Given the description of an element on the screen output the (x, y) to click on. 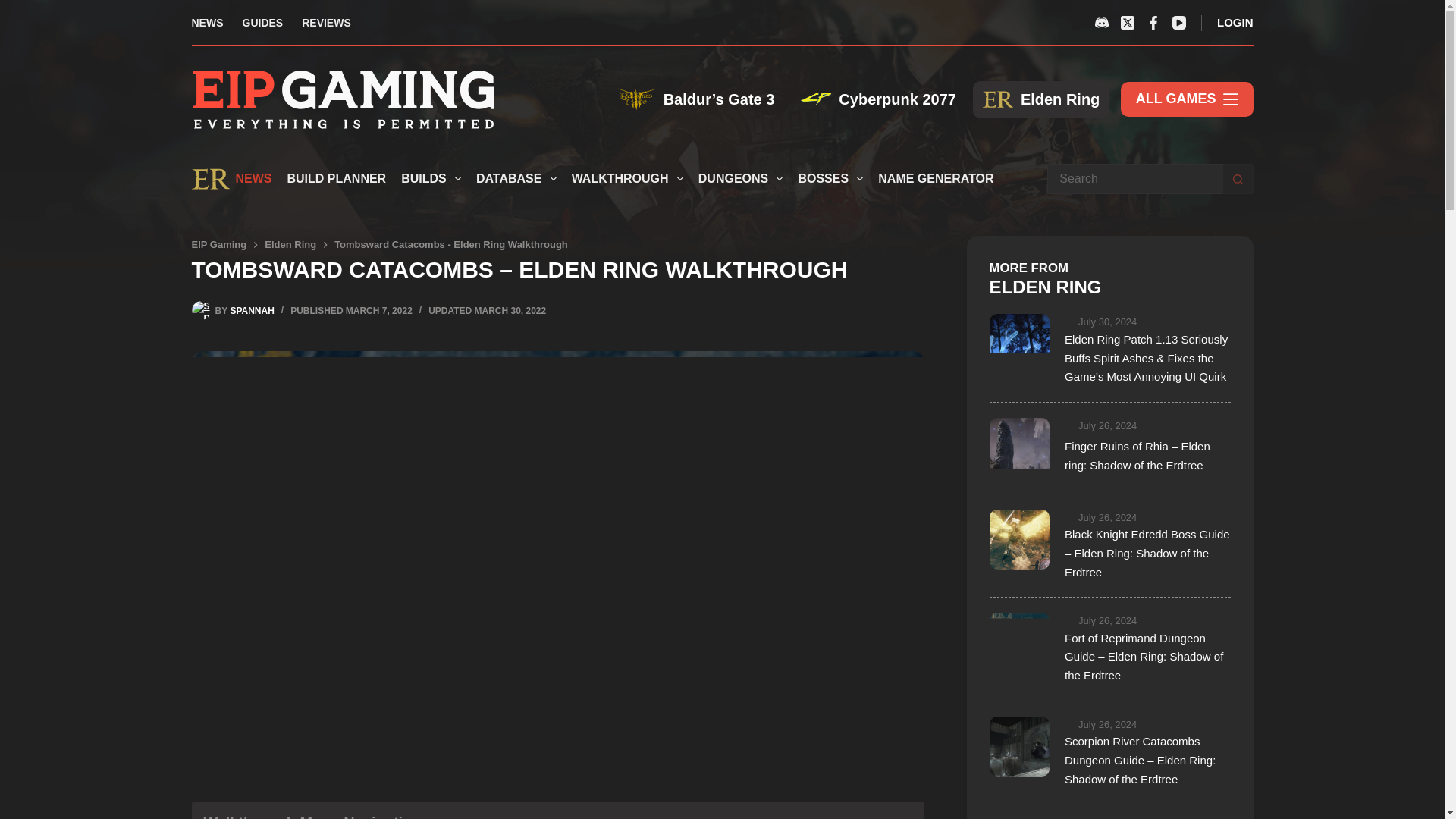
Skip to content (15, 7)
